Given the description of an element on the screen output the (x, y) to click on. 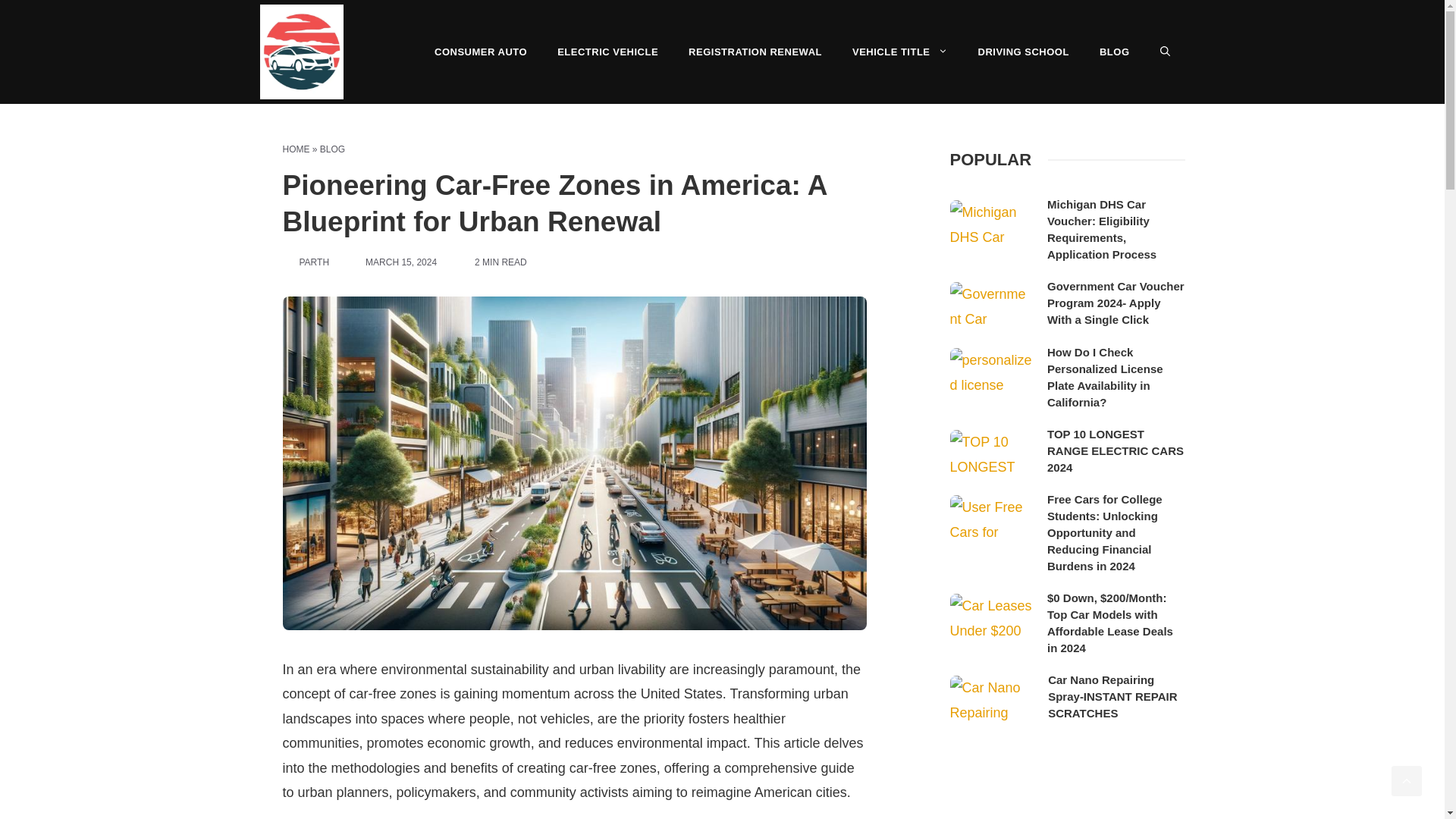
View all posts by Parth (313, 262)
BLOG (332, 149)
CONSUMER AUTO (480, 52)
Scroll back to top (1406, 780)
ELECTRIC VEHICLE (606, 52)
HOME (295, 149)
DRIVING SCHOOL (1023, 52)
